Given the description of an element on the screen output the (x, y) to click on. 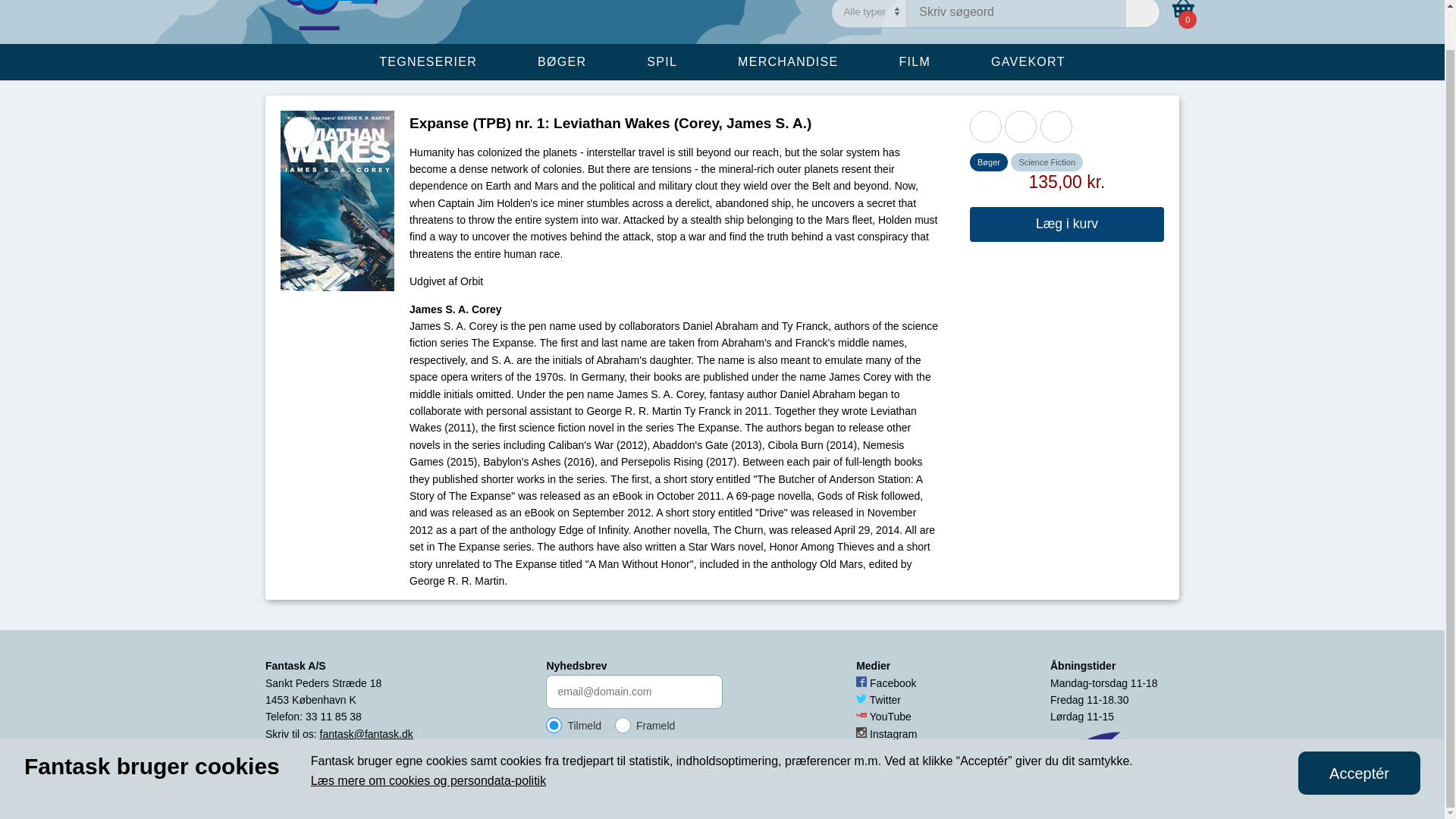
Se alle titler af samme forfatter (1020, 126)
0 (1182, 12)
Se alle titler i samme serie (985, 126)
